Given the description of an element on the screen output the (x, y) to click on. 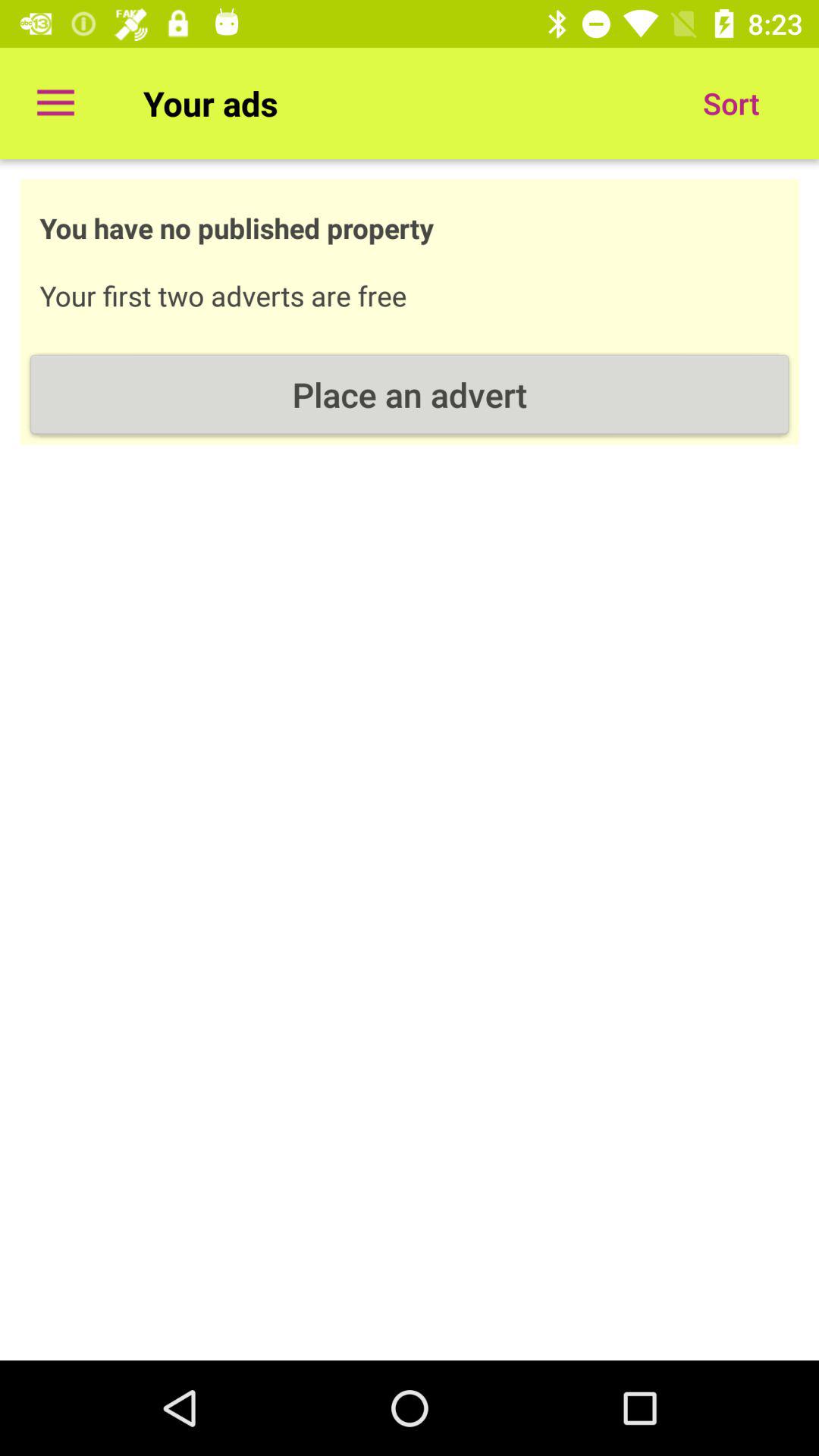
jump until place an advert (409, 394)
